Given the description of an element on the screen output the (x, y) to click on. 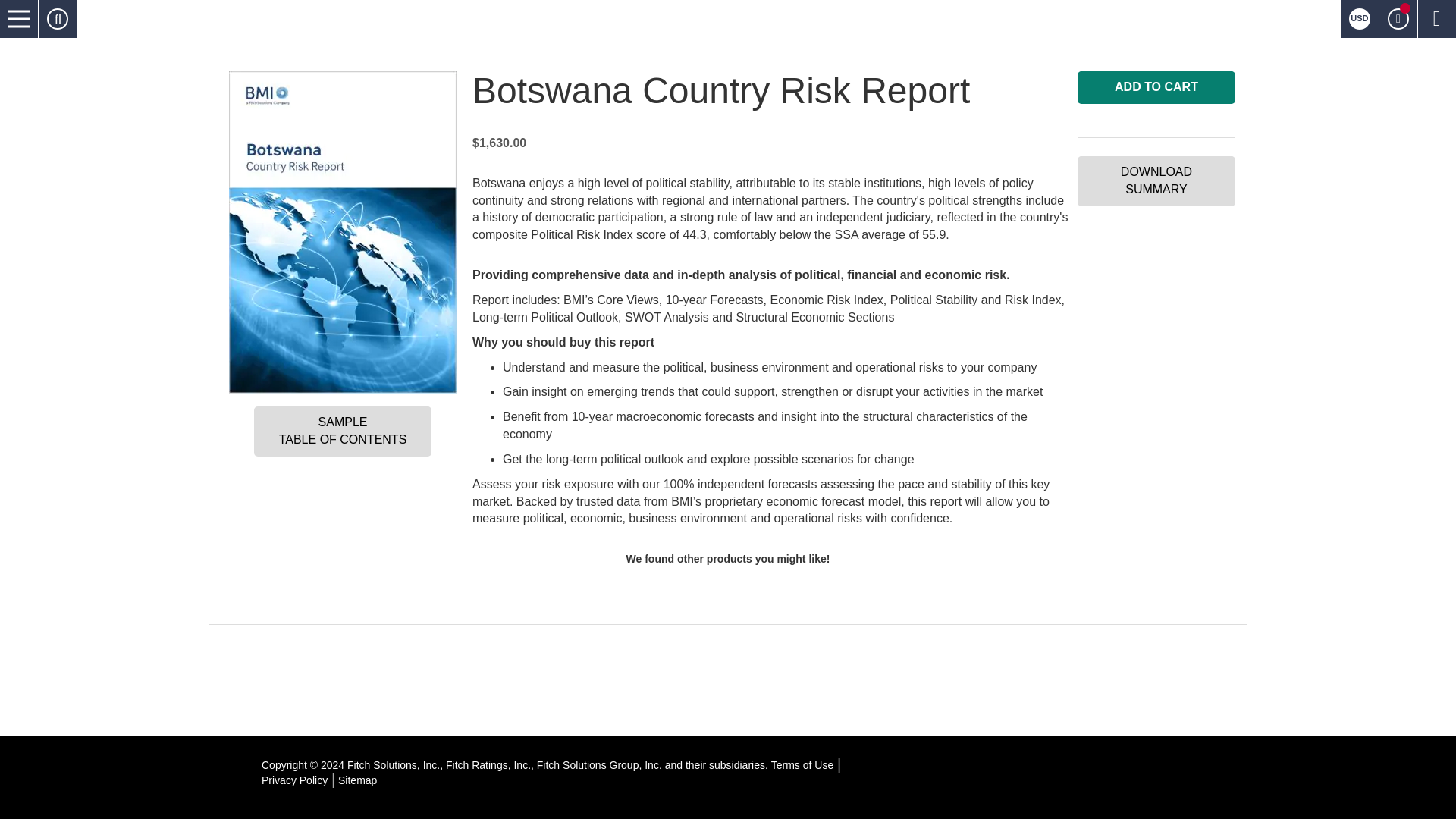
Add to Cart (1155, 87)
